Given the description of an element on the screen output the (x, y) to click on. 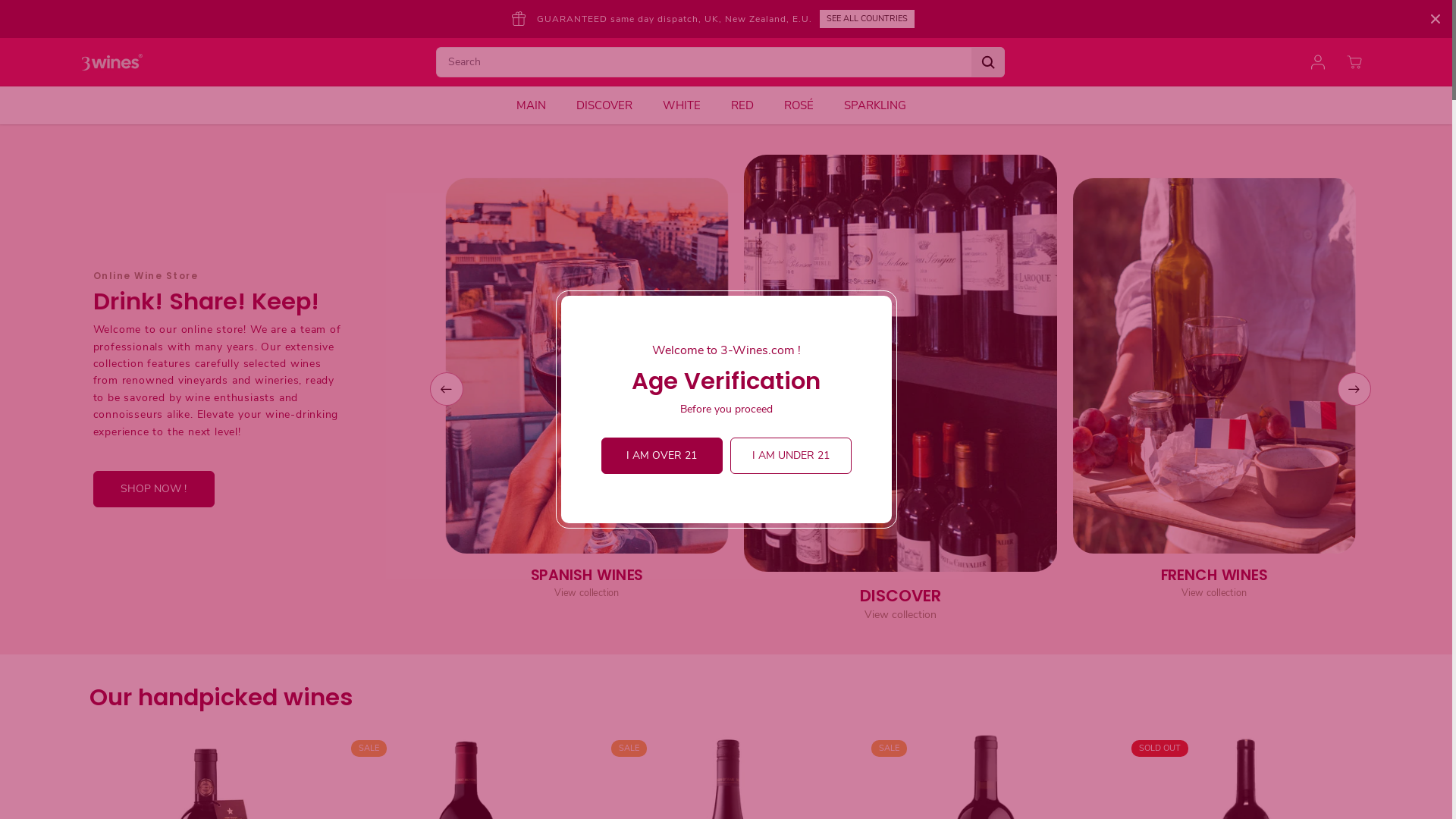
I AM OVER 21 Element type: text (660, 455)
Log in Element type: hover (1317, 61)
SPARKLING Element type: text (885, 105)
MAIN Element type: text (541, 105)
Cart Element type: hover (1354, 61)
SPANISH WINES
View collection Element type: text (602, 585)
SEE ALL COUNTRIES Element type: text (866, 18)
WHITE Element type: text (692, 105)
SHOP NOW ! Element type: text (152, 488)
DISCOVER
View collection Element type: text (900, 605)
I AM UNDER 21 Element type: text (789, 455)
DISCOVER Element type: text (615, 105)
RED Element type: text (753, 105)
FRENCH WINES
View collection Element type: text (1229, 585)
